Given the description of an element on the screen output the (x, y) to click on. 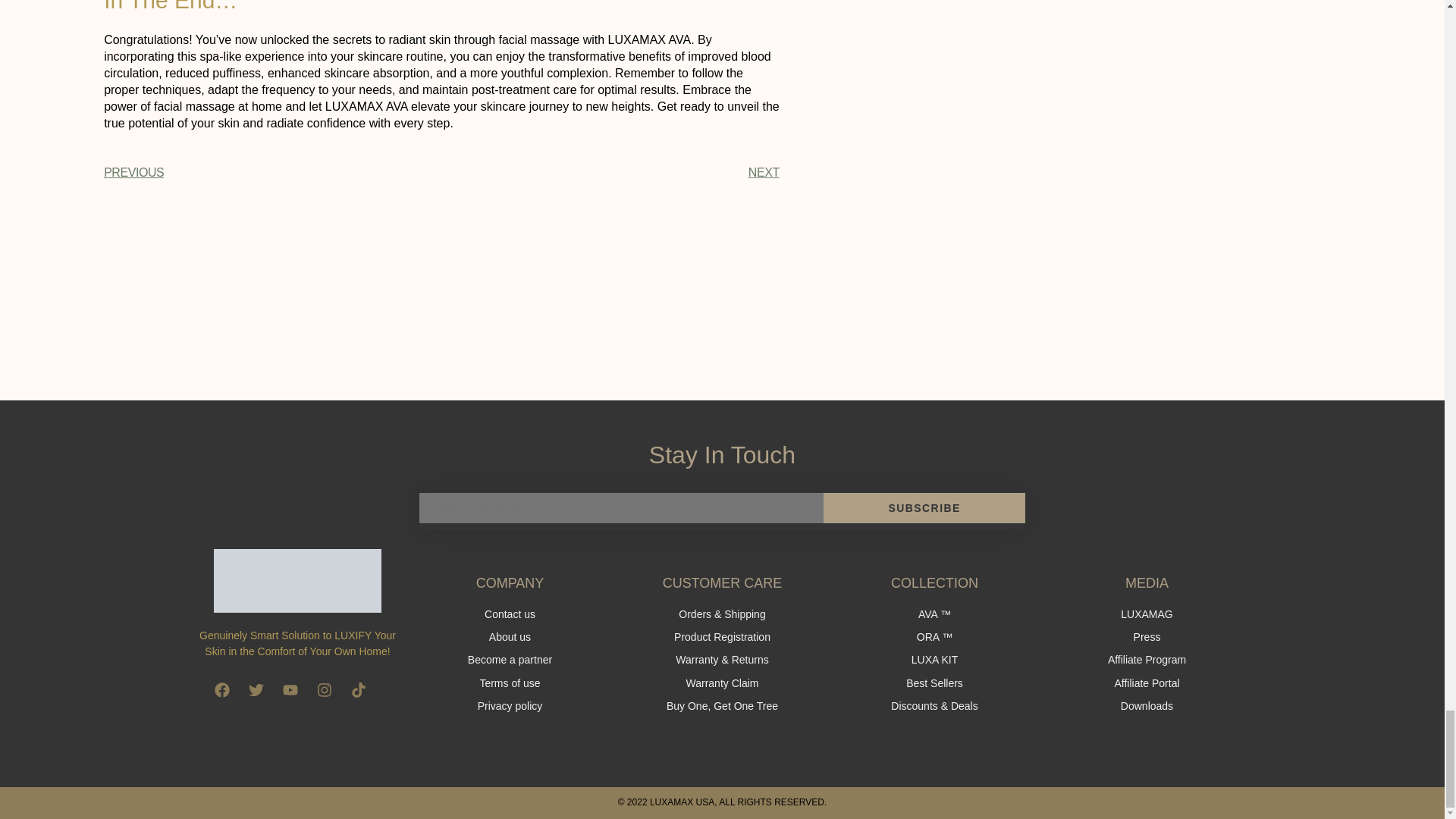
Contact us (509, 614)
Become a partner (509, 659)
Terms of use (509, 683)
Privacy policy (509, 705)
PREVIOUS (272, 173)
SUBSCRIBE (925, 508)
About us (509, 637)
NEXT (609, 173)
